Given the description of an element on the screen output the (x, y) to click on. 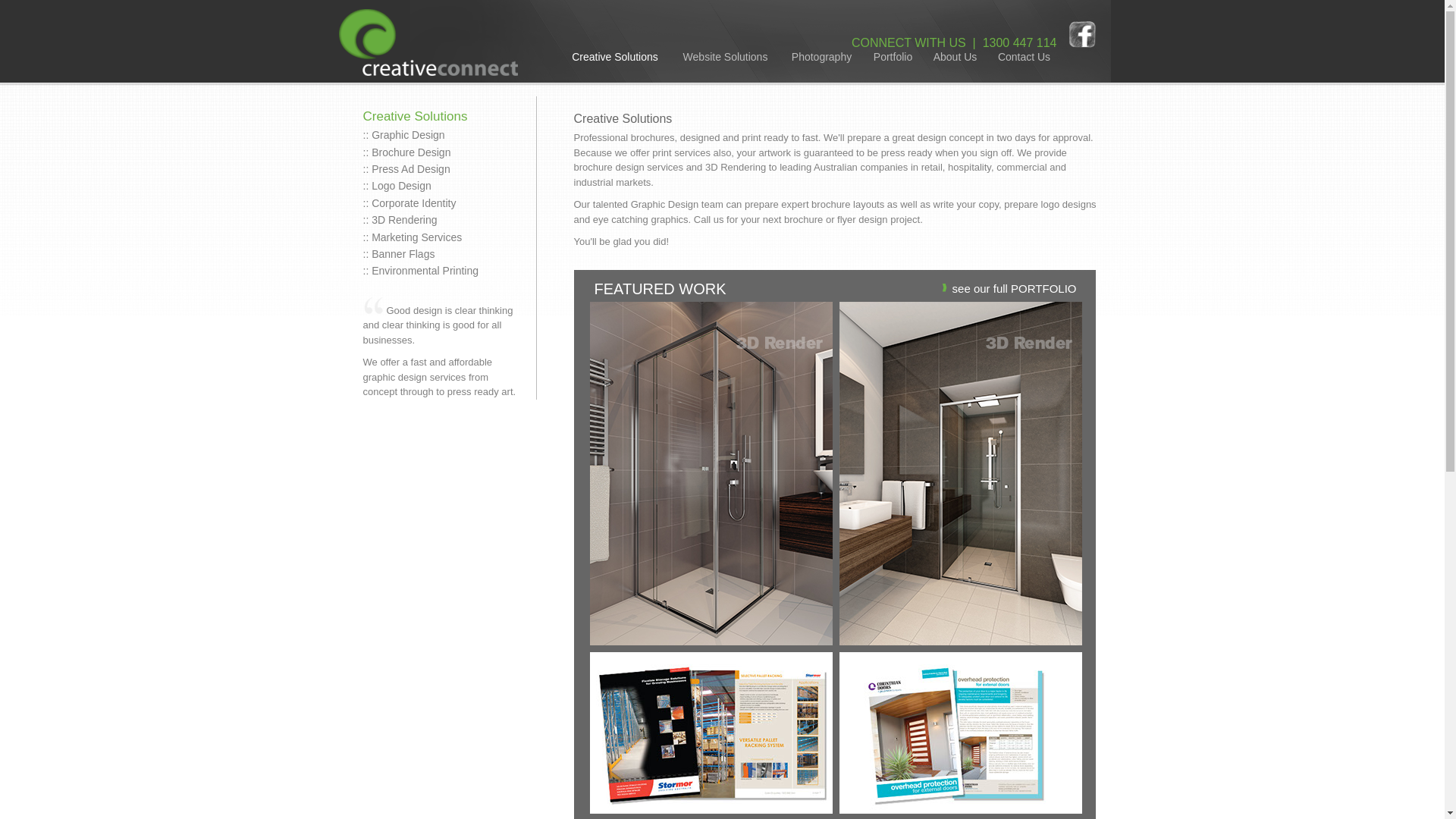
:: Environmental Printing Element type: text (420, 270)
About Us Element type: text (954, 57)
Contact Us Element type: text (1024, 57)
Website Solutions Element type: text (725, 57)
:: Graphic Design Element type: text (403, 134)
:: Corporate Identity Element type: text (408, 203)
see our full PORTFOLIO Element type: text (1014, 287)
:: 3D Rendering Element type: text (399, 219)
Photography Element type: text (821, 57)
:: Logo Design Element type: text (396, 185)
:: Brochure Design Element type: text (406, 152)
:: Press Ad Design Element type: text (405, 169)
Portfolio Element type: text (893, 57)
:: Banner Flags Element type: text (398, 253)
Creative Solutions Element type: text (615, 57)
:: Marketing Services Element type: text (411, 237)
